Given the description of an element on the screen output the (x, y) to click on. 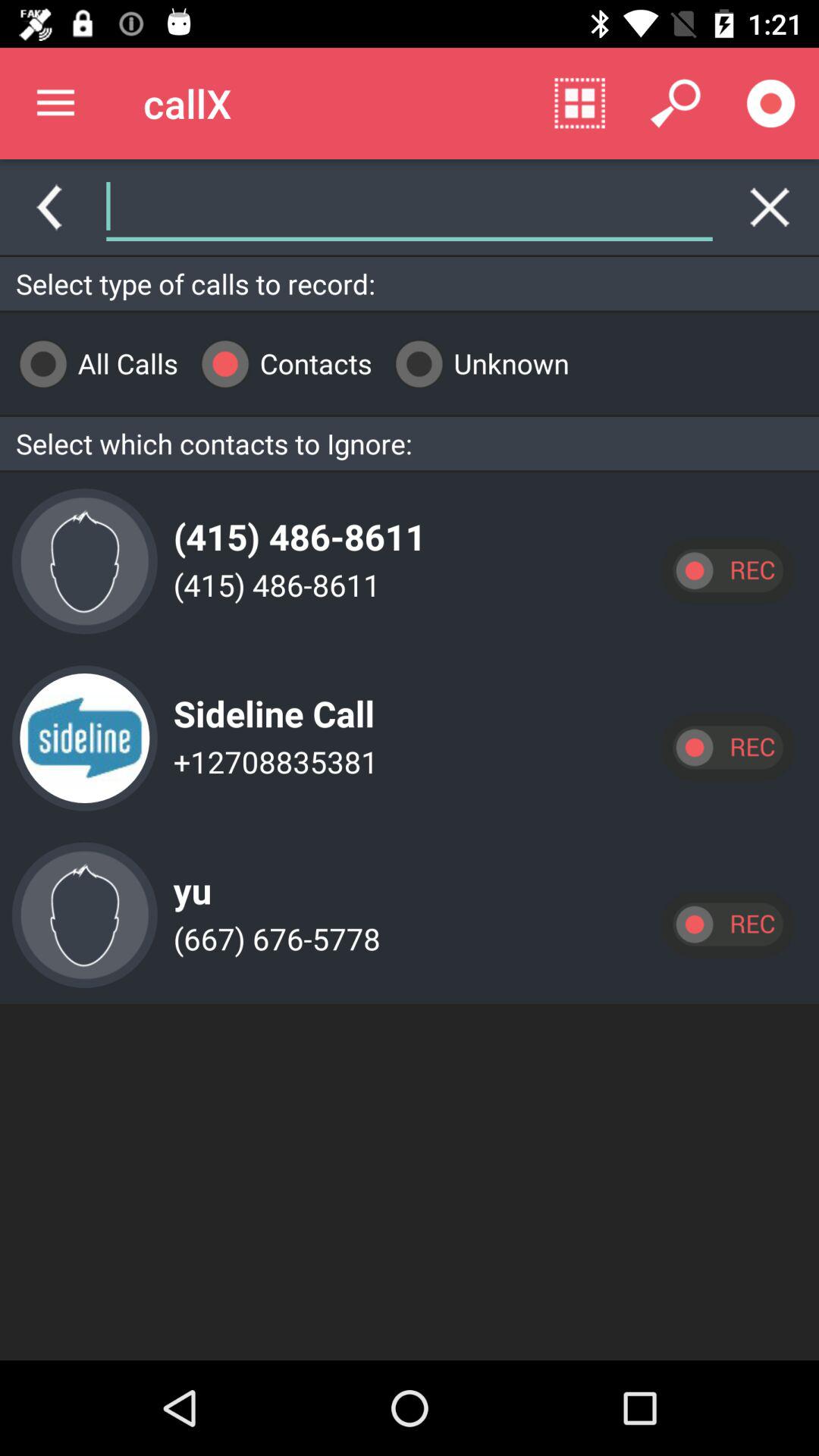
tap icon above the select type of (571, 206)
